Given the description of an element on the screen output the (x, y) to click on. 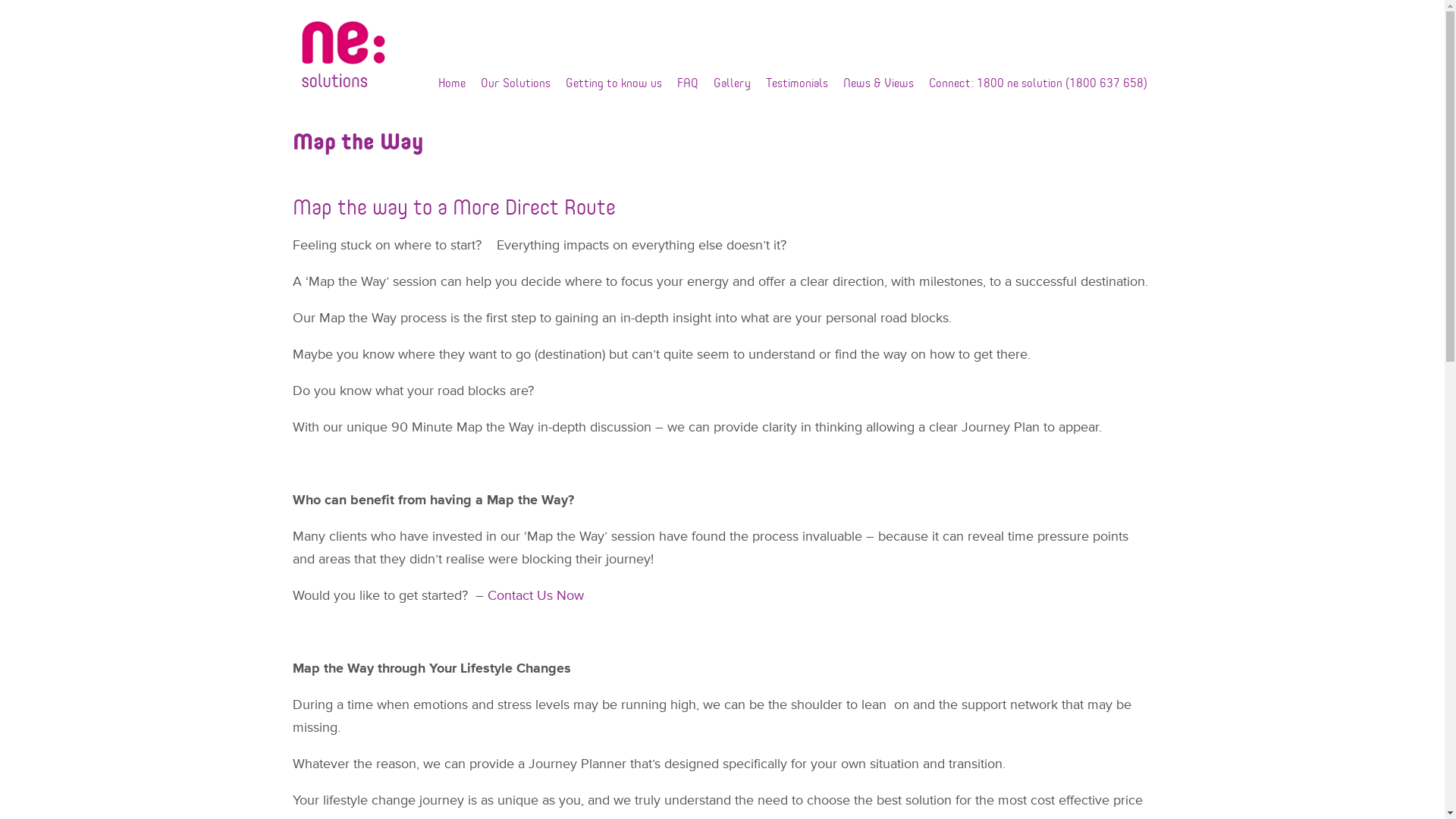
Our Solutions Element type: text (515, 82)
Contact Us Now Element type: text (534, 594)
Home Element type: text (451, 82)
Getting to know us Element type: text (613, 82)
Gallery Element type: text (731, 82)
Testimonials Element type: text (796, 82)
News & Views Element type: text (878, 82)
FAQ Element type: text (686, 82)
Connect: 1800 ne solution (1800 637 658) Element type: text (1037, 82)
